Given the description of an element on the screen output the (x, y) to click on. 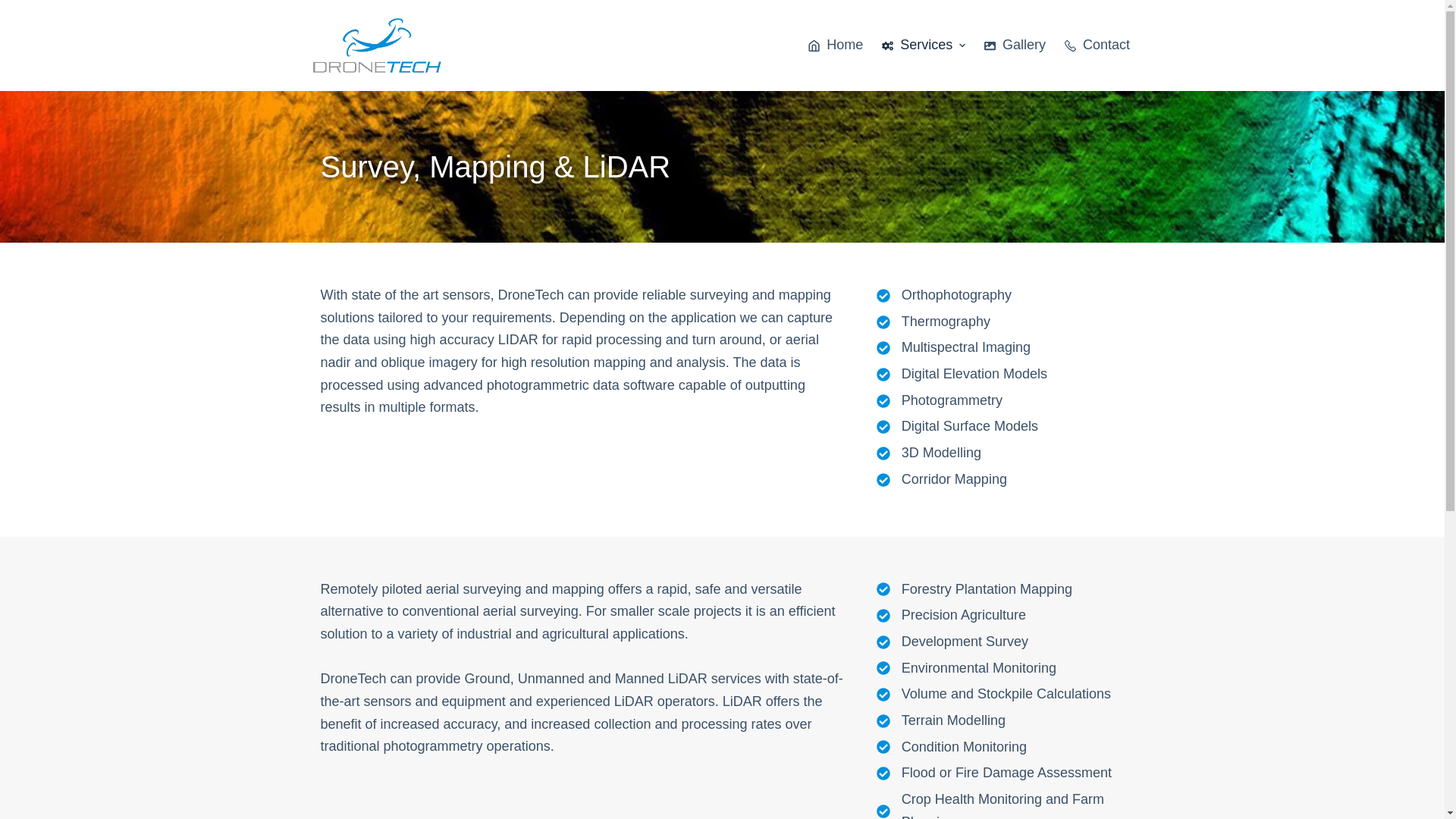
Gallery Element type: text (1014, 45)
Home Element type: text (835, 45)
Contact Element type: text (1096, 45)
Services Element type: text (923, 45)
Skip to content Element type: text (15, 7)
